Given the description of an element on the screen output the (x, y) to click on. 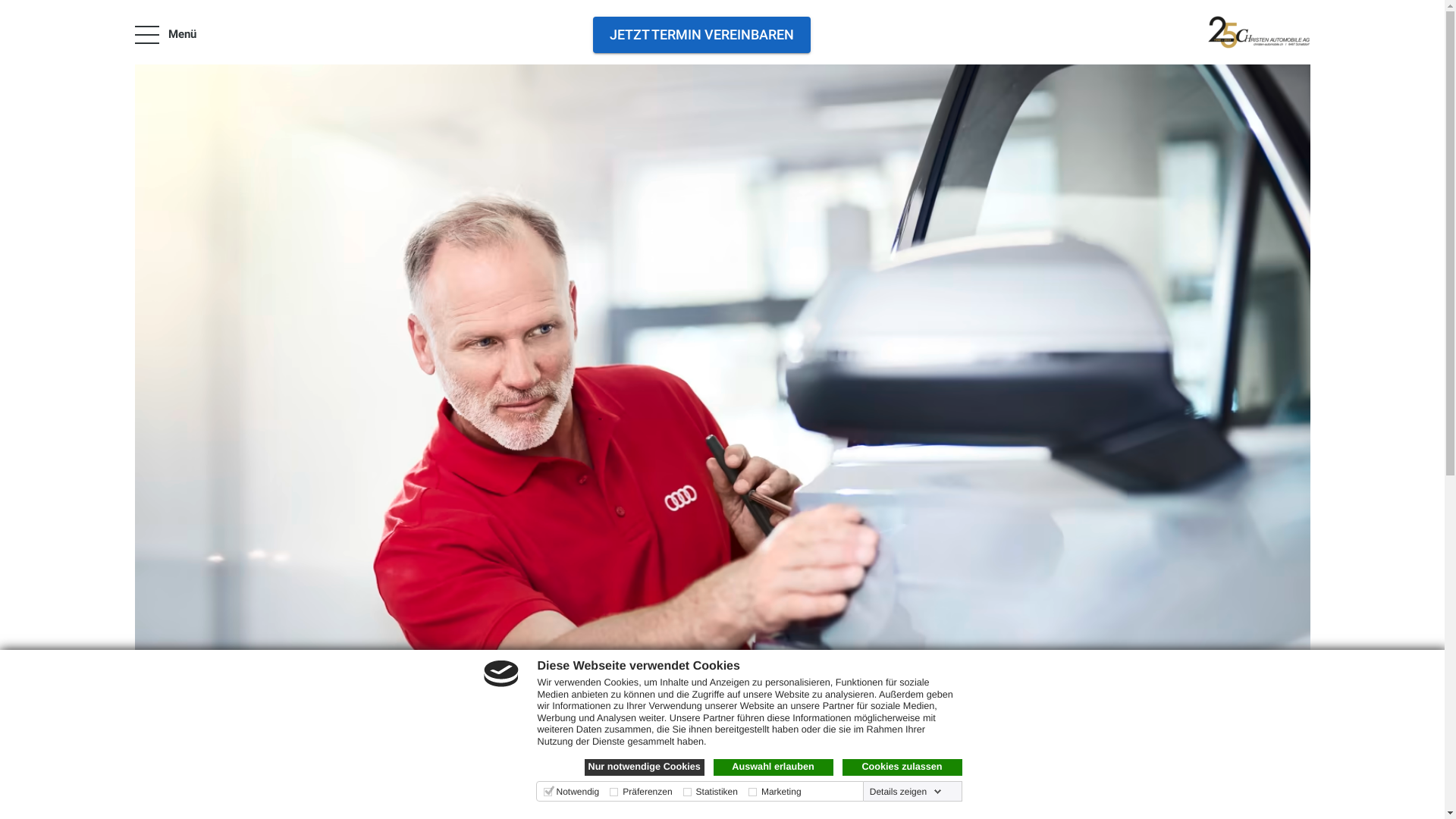
Jetzt Termin vereinbaren Element type: hover (701, 34)
Details zeigen Element type: text (905, 791)
Nur notwendige Cookies Element type: text (643, 767)
Auswahl erlauben Element type: text (772, 767)
Cookies zulassen Element type: text (901, 767)
